Given the description of an element on the screen output the (x, y) to click on. 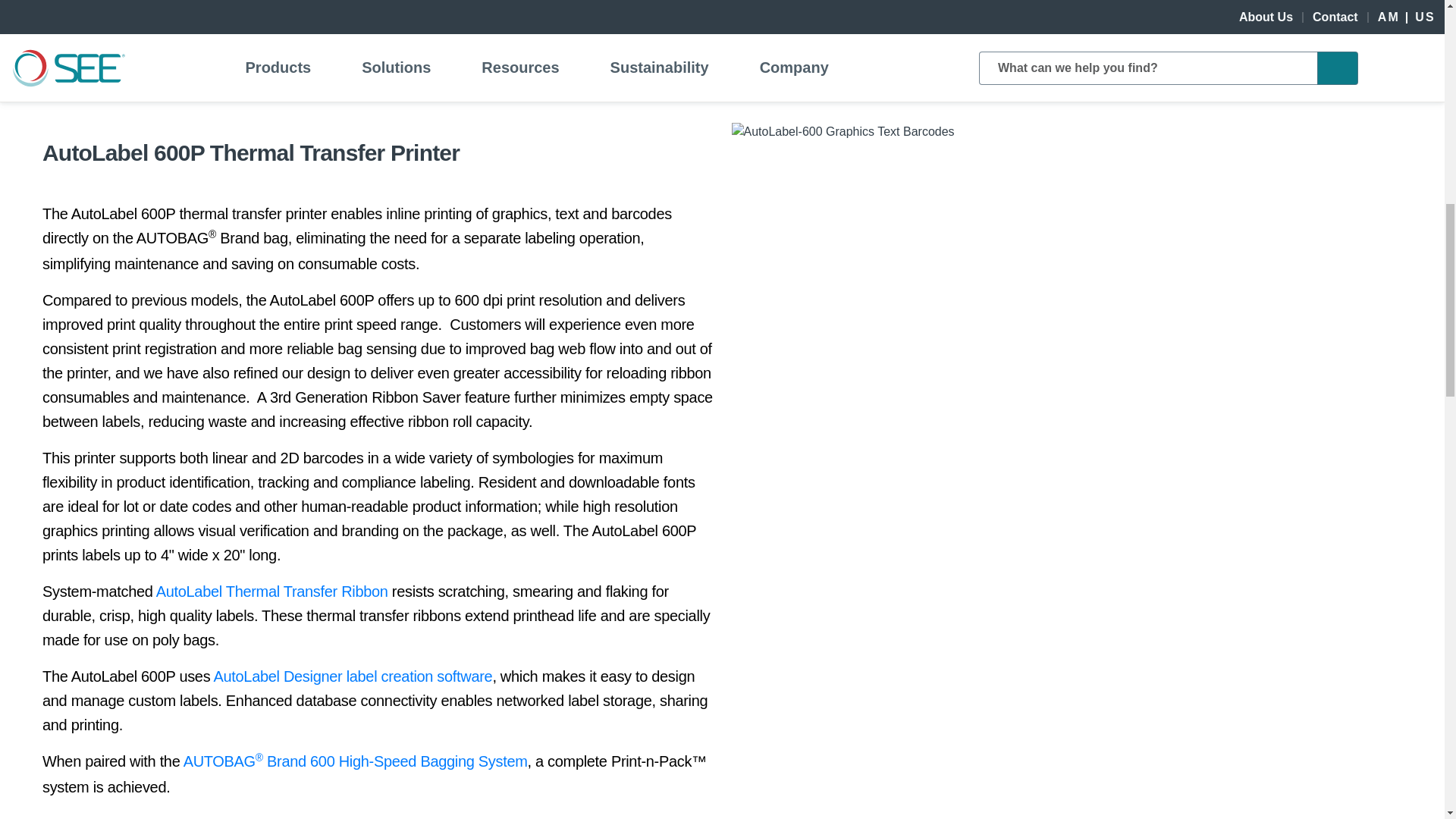
AutoLabel-600 Graphics Text Barcodes (841, 131)
